Given the description of an element on the screen output the (x, y) to click on. 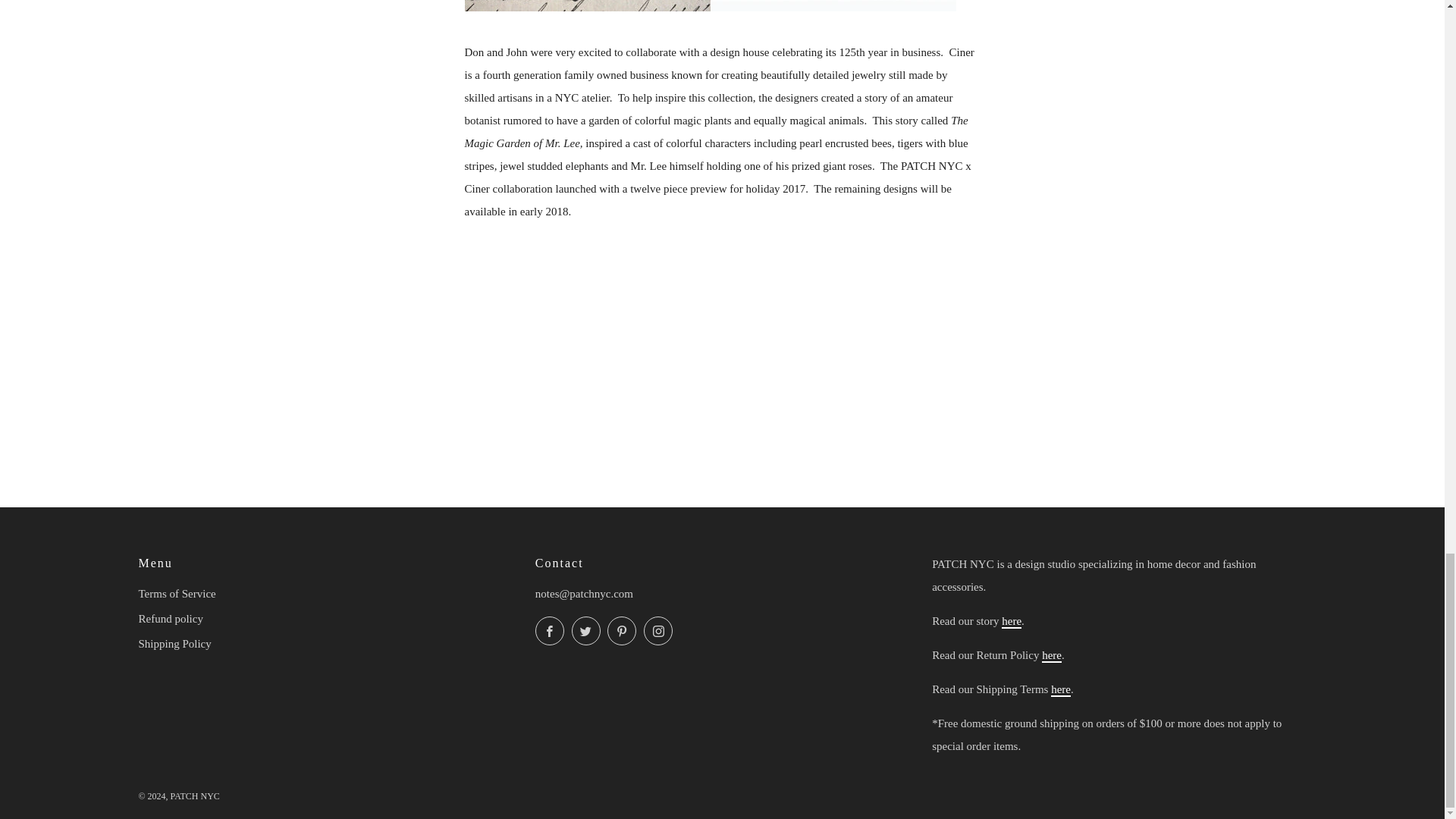
Refund Policy (1051, 655)
Shipping Policy (1060, 689)
HISTORY (1011, 621)
